Given the description of an element on the screen output the (x, y) to click on. 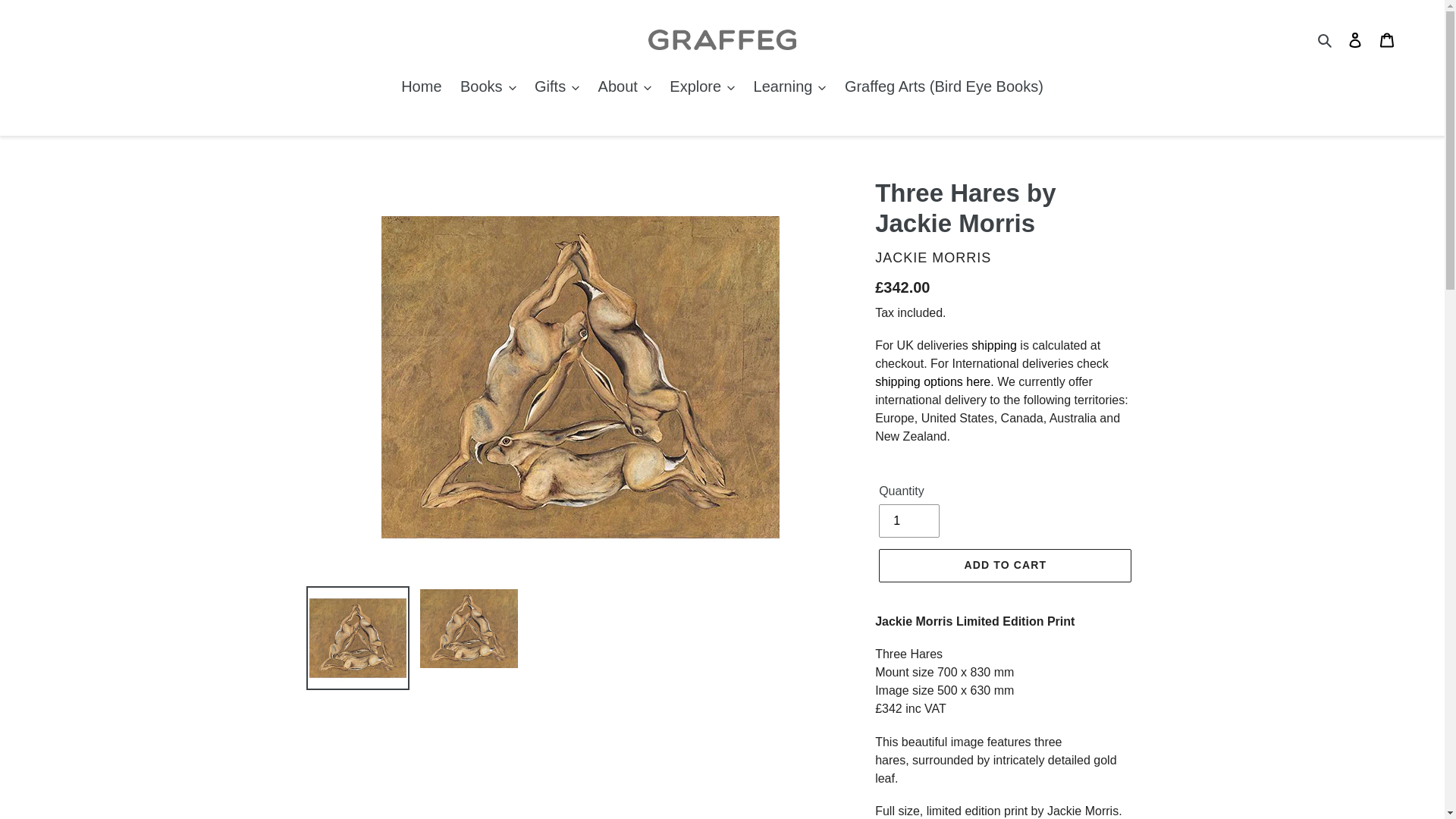
Search (1326, 39)
Log in (1355, 39)
1 (909, 520)
Cart (1387, 39)
